Given the description of an element on the screen output the (x, y) to click on. 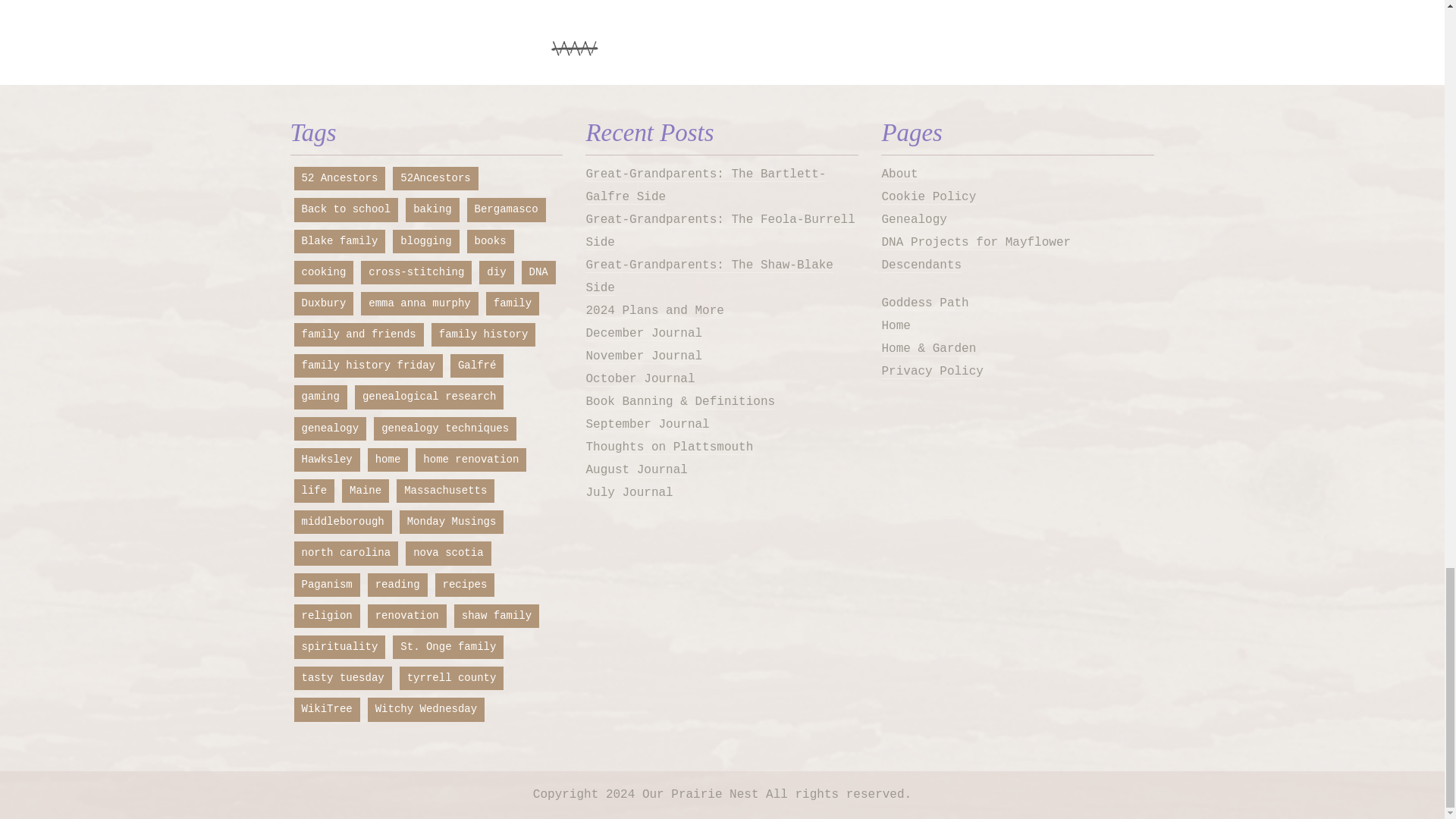
52 Ancestors (339, 178)
52Ancestors (435, 178)
Back to school (346, 209)
